Given the description of an element on the screen output the (x, y) to click on. 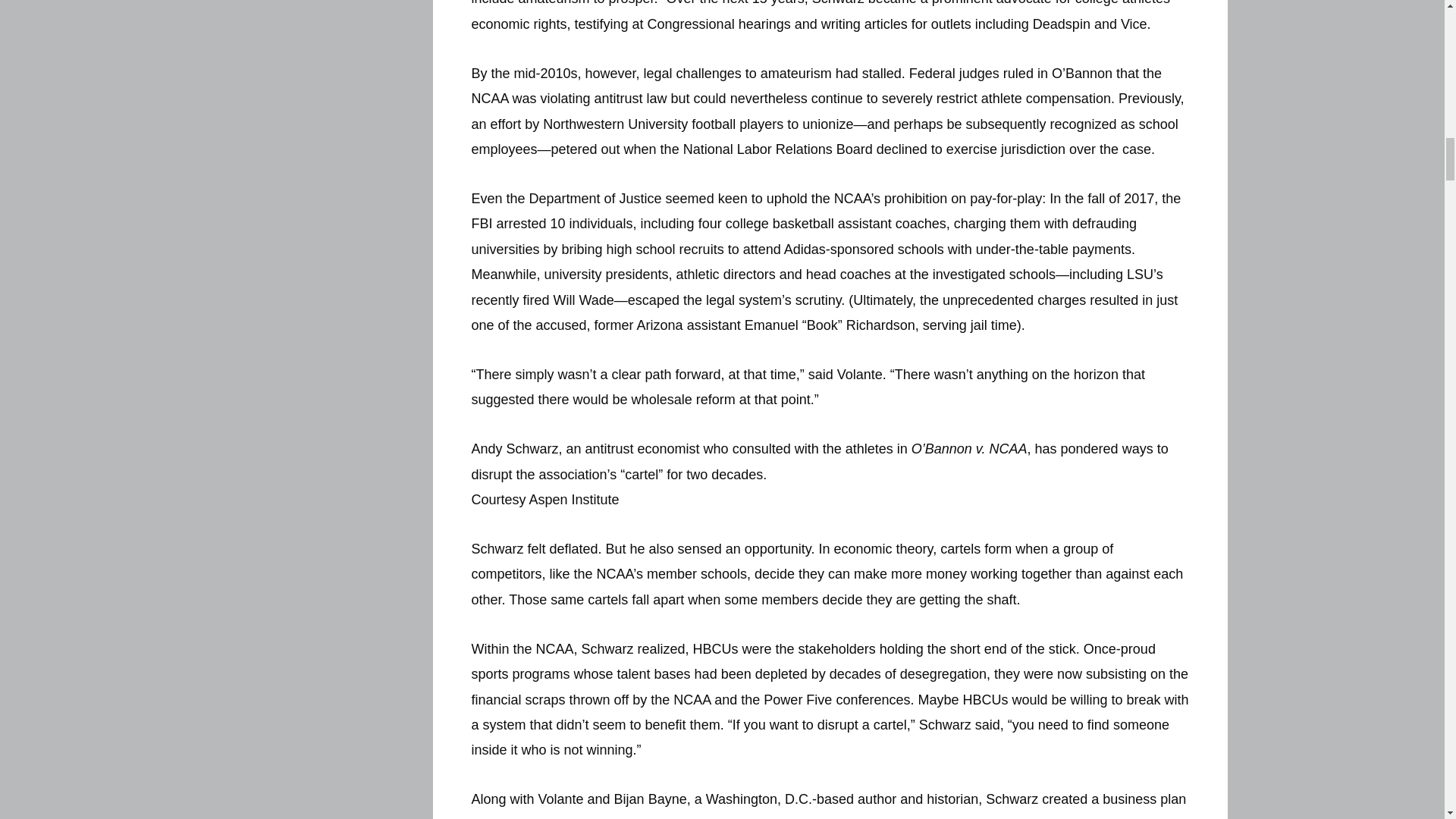
HBCU (528, 818)
